Given the description of an element on the screen output the (x, y) to click on. 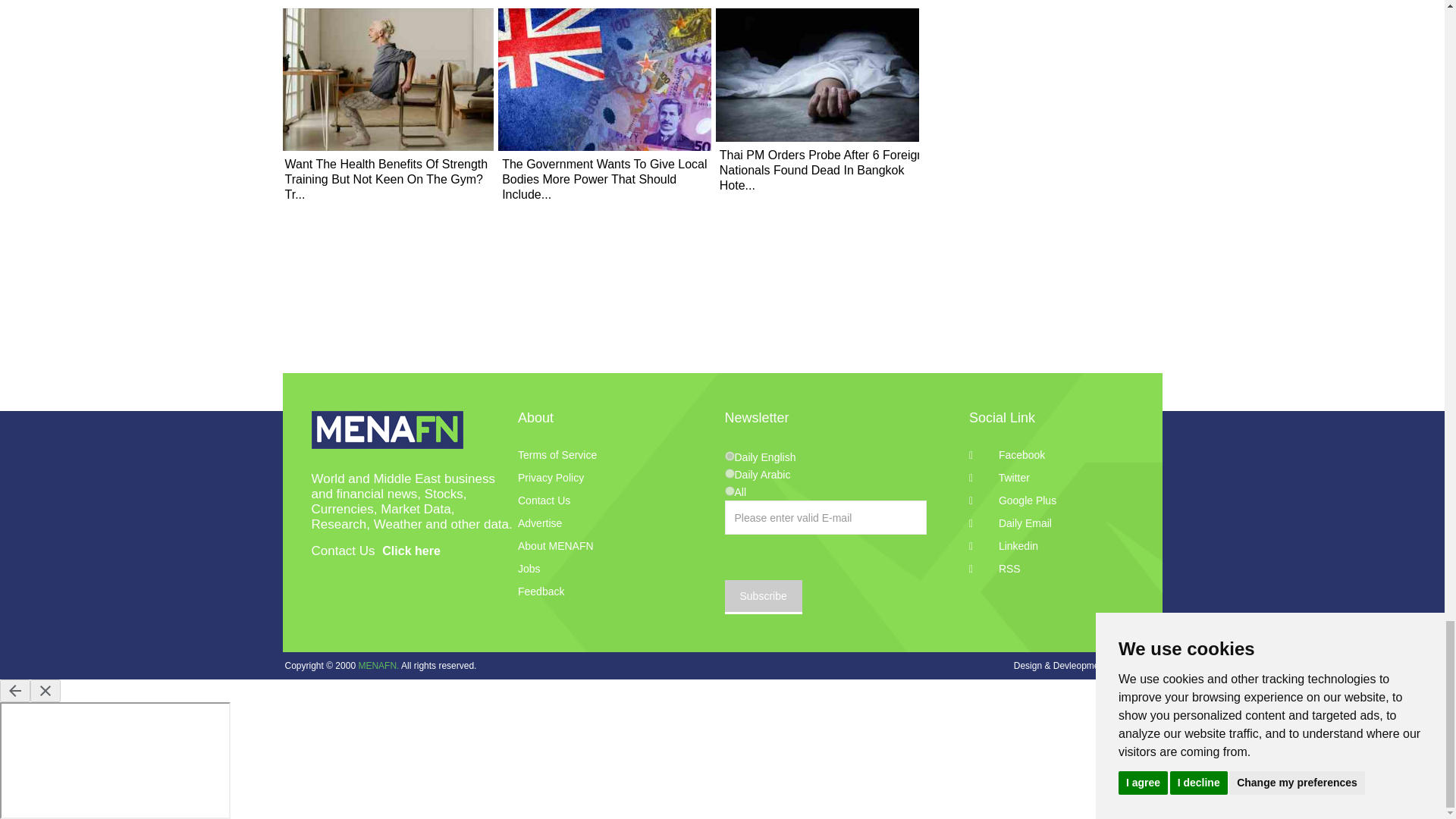
Advertisement (1047, 30)
Subscribe (763, 596)
Advertisement (721, 335)
